Given the description of an element on the screen output the (x, y) to click on. 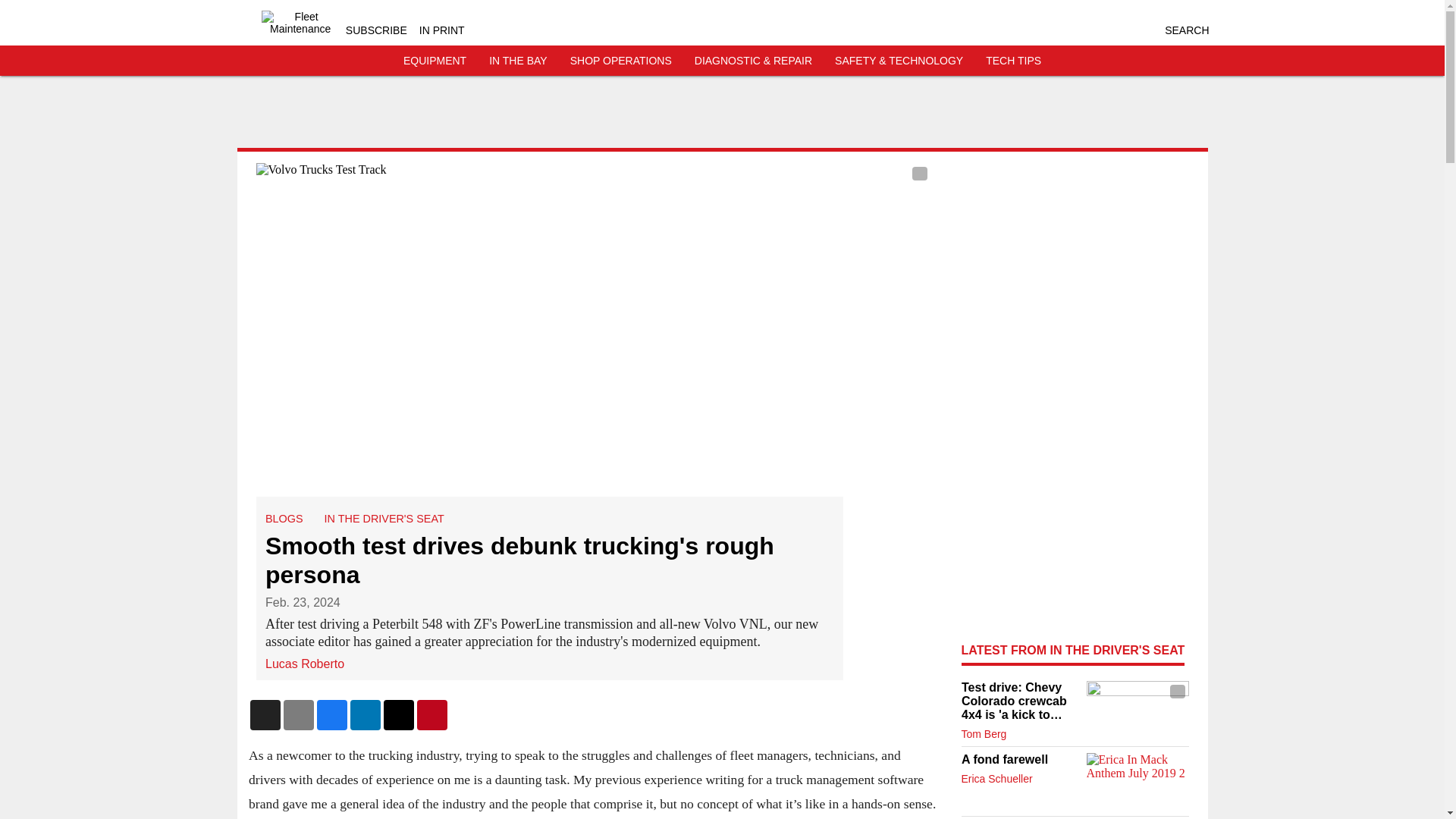
Tom Berg (983, 734)
EQUIPMENT (434, 60)
BLOGS (283, 518)
IN THE BAY (518, 60)
SUBSCRIBE (376, 30)
LATEST FROM IN THE DRIVER'S SEAT (1072, 649)
TECH TIPS (1013, 60)
Test drive: Chevy Colorado crewcab 4x4 is 'a kick to drive' (1019, 700)
SHOP OPERATIONS (620, 60)
IN PRINT (441, 30)
Lucas Roberto (303, 662)
SEARCH (1186, 30)
IN THE DRIVER'S SEAT (383, 518)
